Given the description of an element on the screen output the (x, y) to click on. 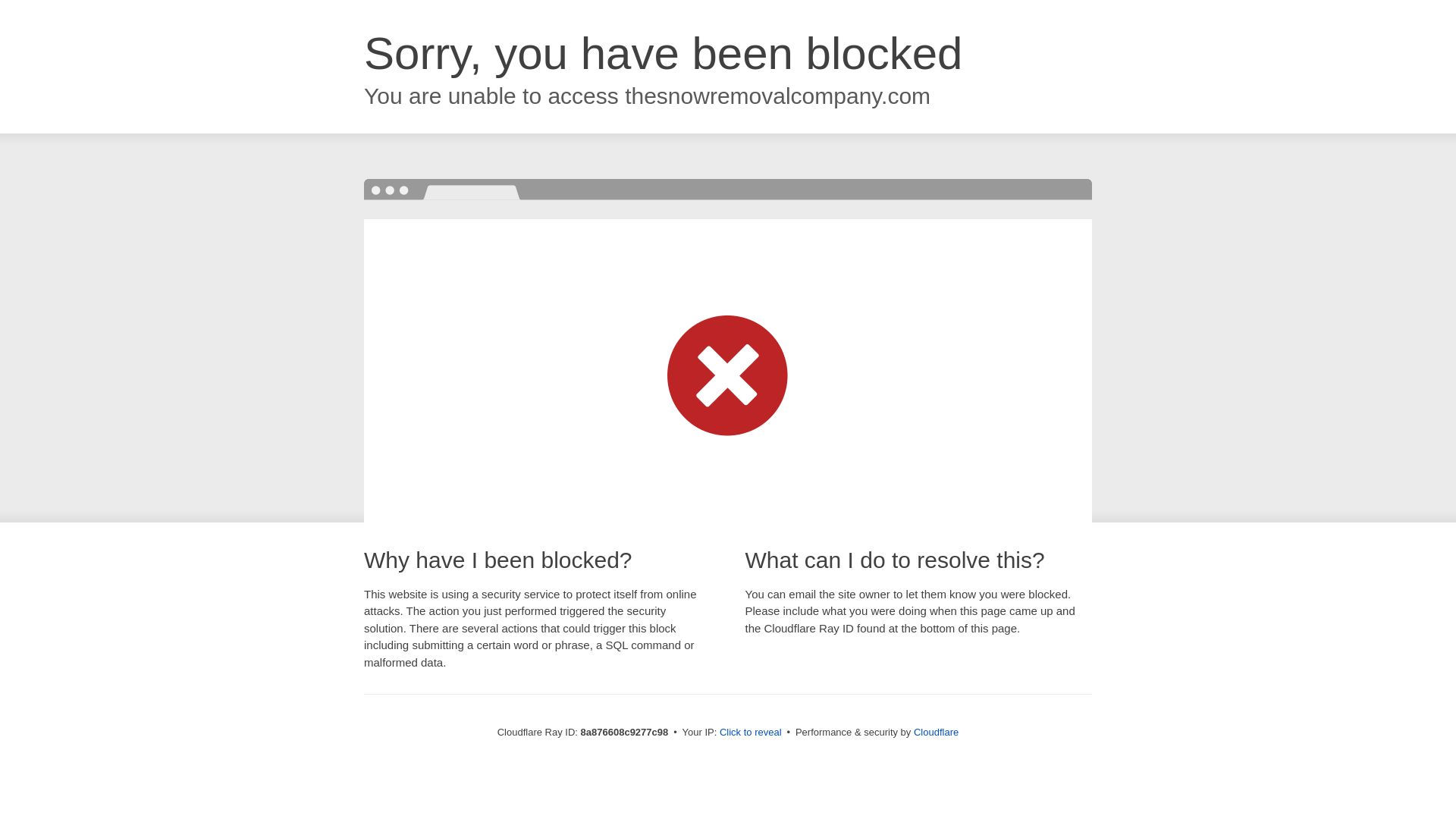
Click to reveal (750, 732)
Cloudflare (936, 731)
